Given the description of an element on the screen output the (x, y) to click on. 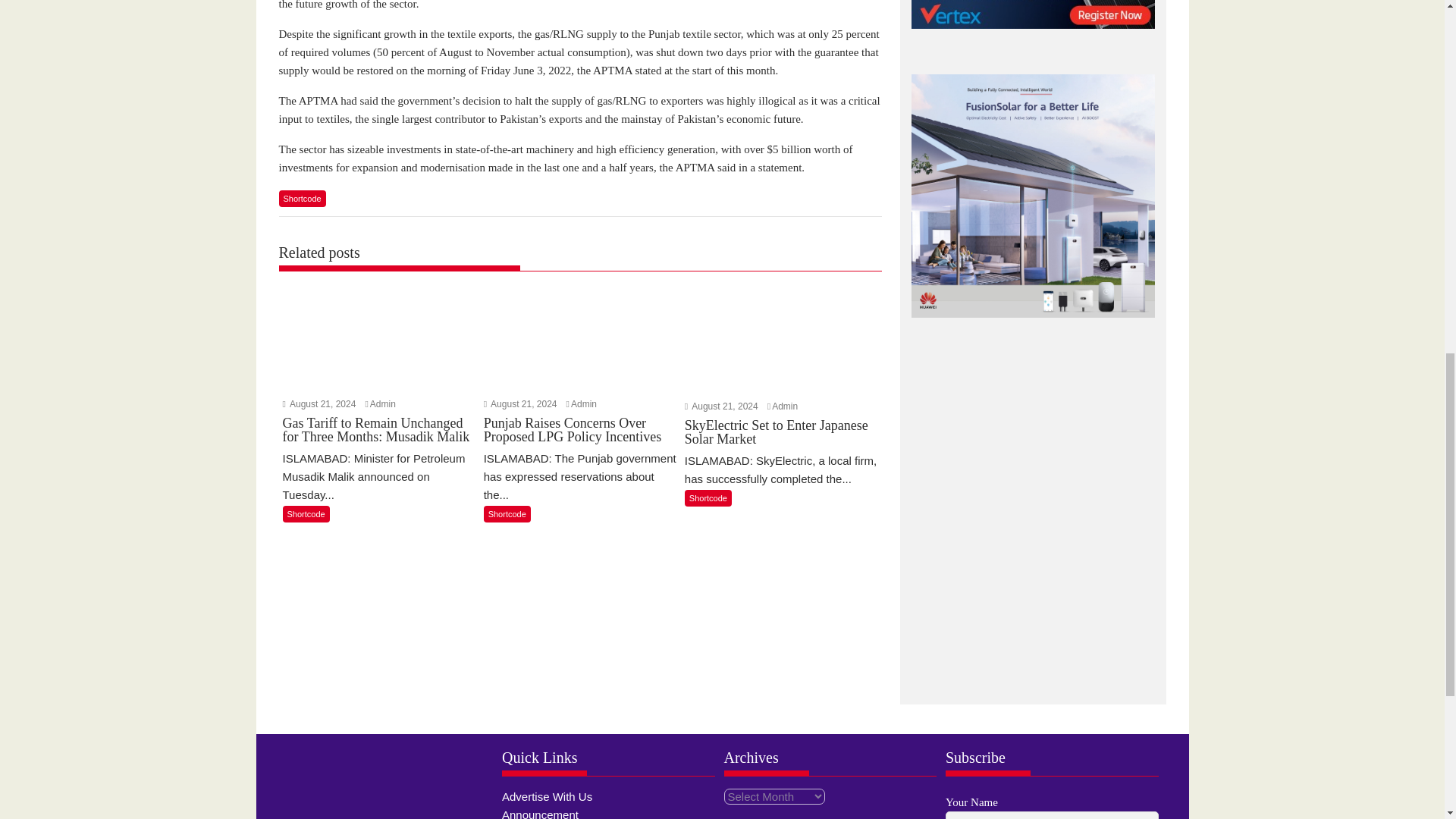
Admin (583, 403)
Admin (784, 406)
Admin (382, 403)
